Given the description of an element on the screen output the (x, y) to click on. 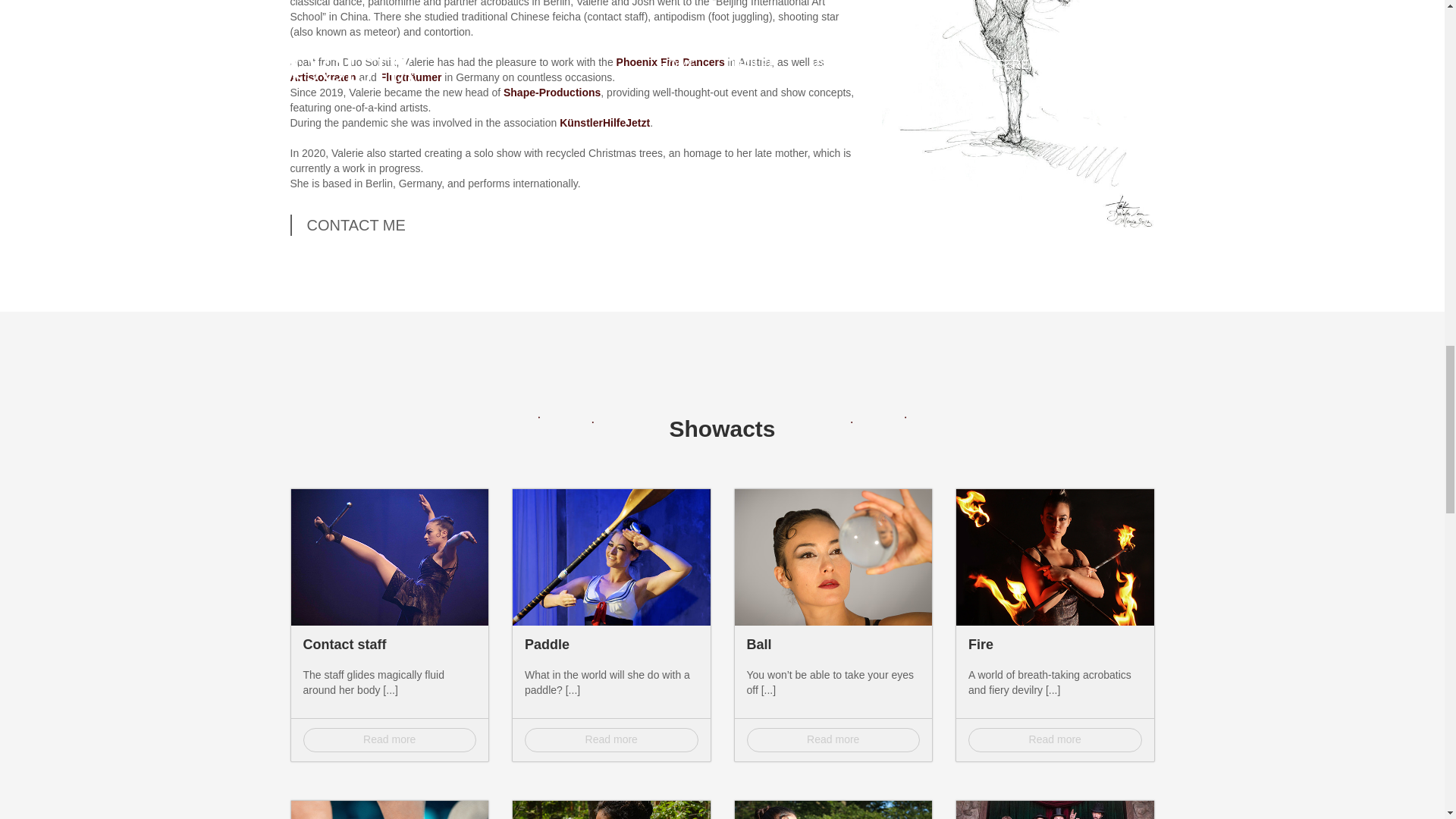
Shape-Productions (551, 92)
CONTACT ME (356, 225)
Phoenix Fire Dancers (670, 62)
Read more (1054, 740)
Read more (832, 740)
Read more (611, 740)
Read more (389, 740)
Artistokraten (322, 77)
CONTACT ME (356, 225)
